Given the description of an element on the screen output the (x, y) to click on. 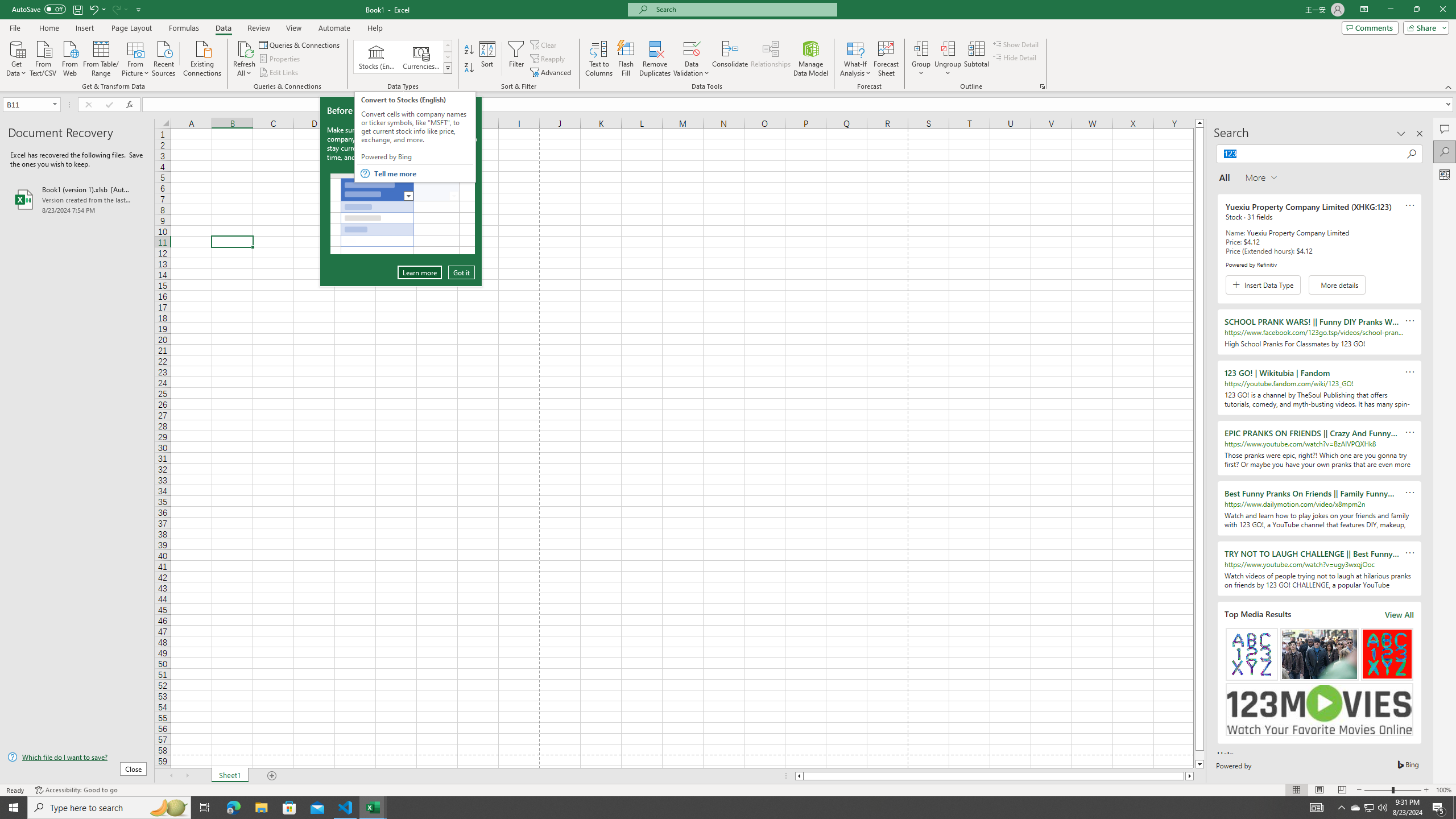
Show desktop (1454, 807)
